Given the description of an element on the screen output the (x, y) to click on. 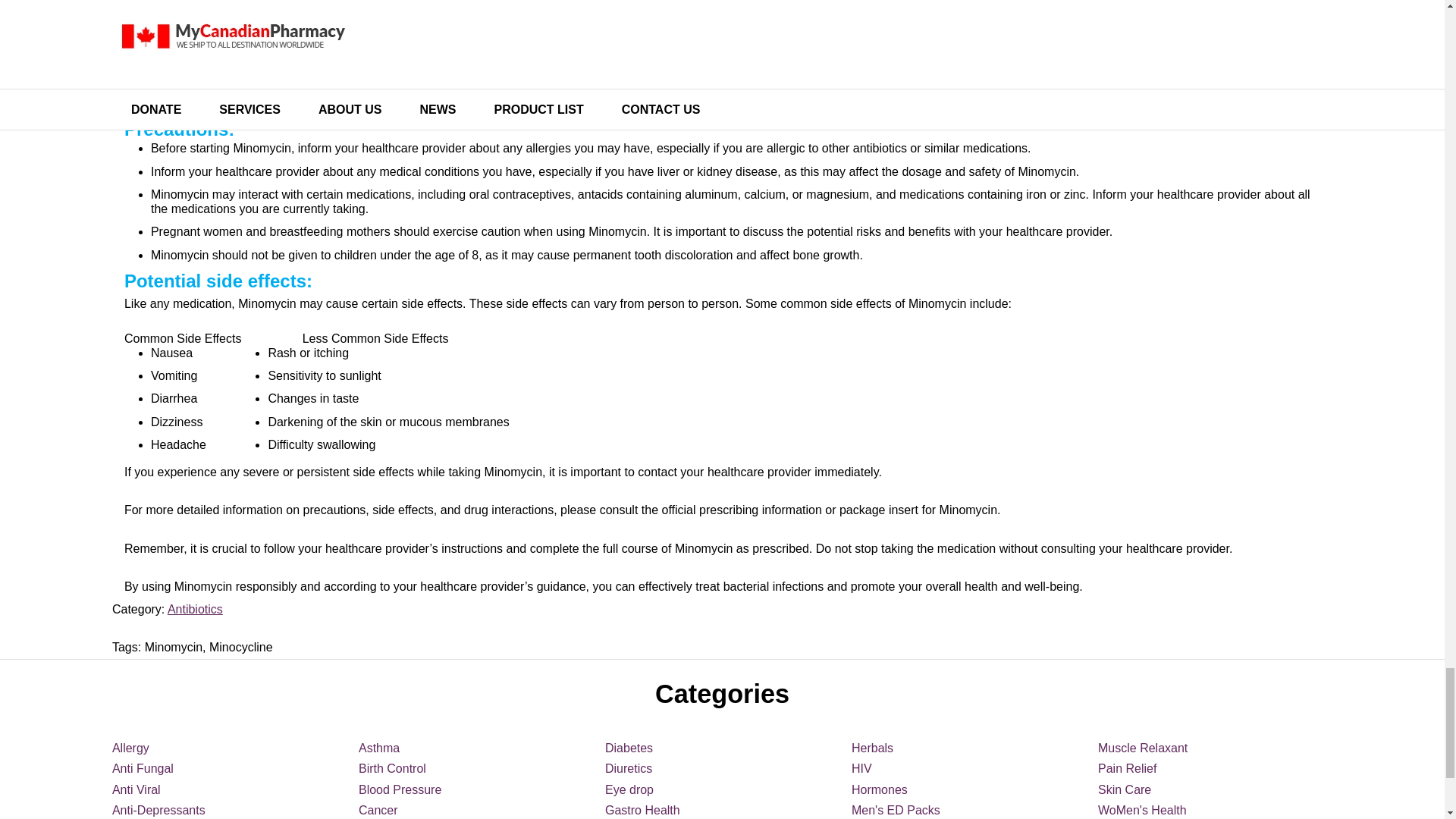
Diabetes (628, 748)
Hormones (879, 789)
Allergy (130, 748)
American Academy of Dermatology (534, 21)
Asthma (378, 748)
Cancer (377, 809)
Anti Fungal (142, 768)
Diuretics (628, 768)
Antibiotics (194, 608)
Gastro Health (642, 809)
Anti-Depressants (158, 809)
HIV (861, 768)
Birth Control (392, 768)
Eye drop (629, 789)
Blood Pressure (399, 789)
